Given the description of an element on the screen output the (x, y) to click on. 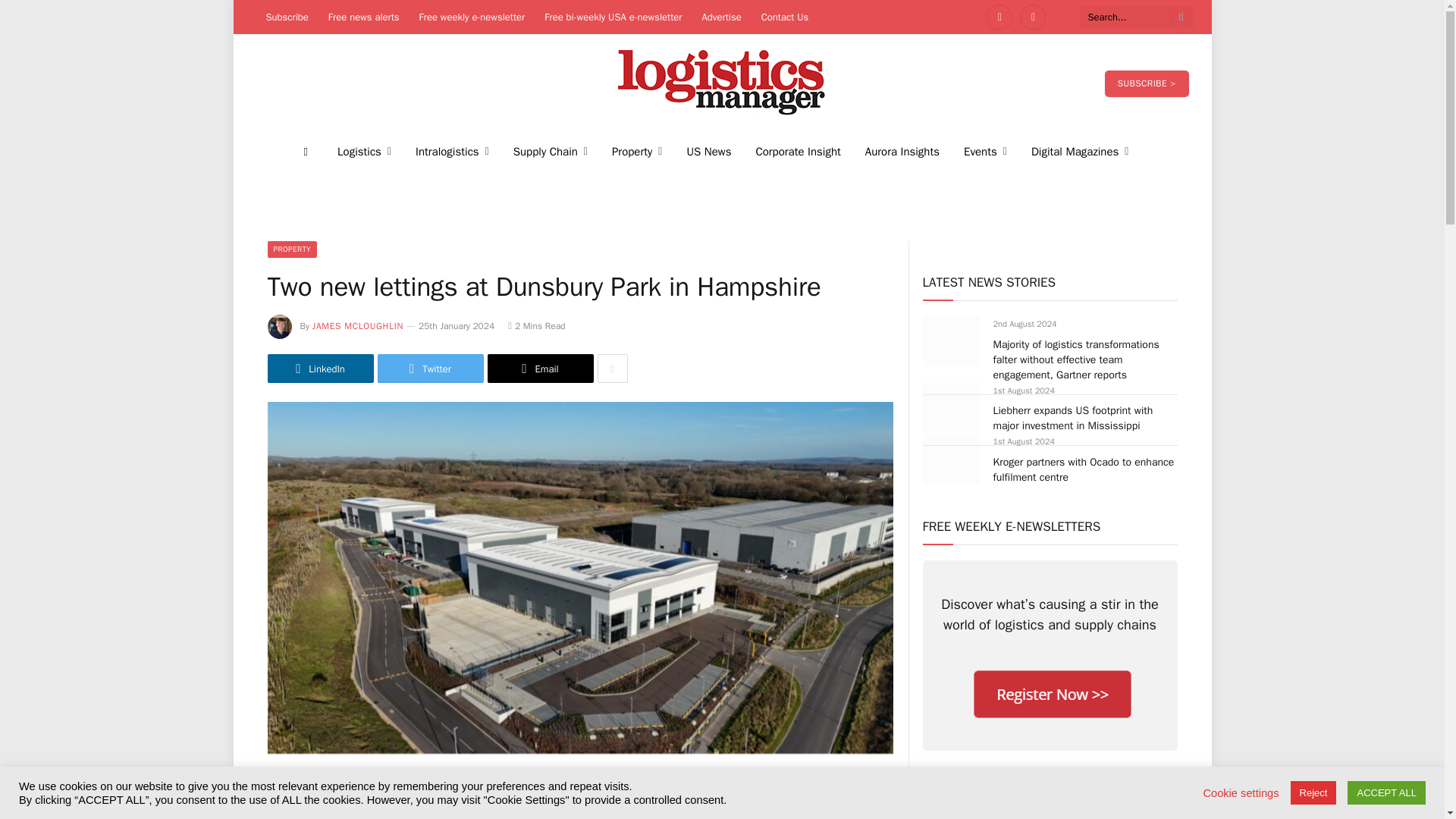
Posts by James McLoughlin (358, 326)
Share on LinkedIn (319, 368)
Share via Email (539, 368)
Logistics Manager (722, 83)
Show More Social Sharing (611, 368)
